Given the description of an element on the screen output the (x, y) to click on. 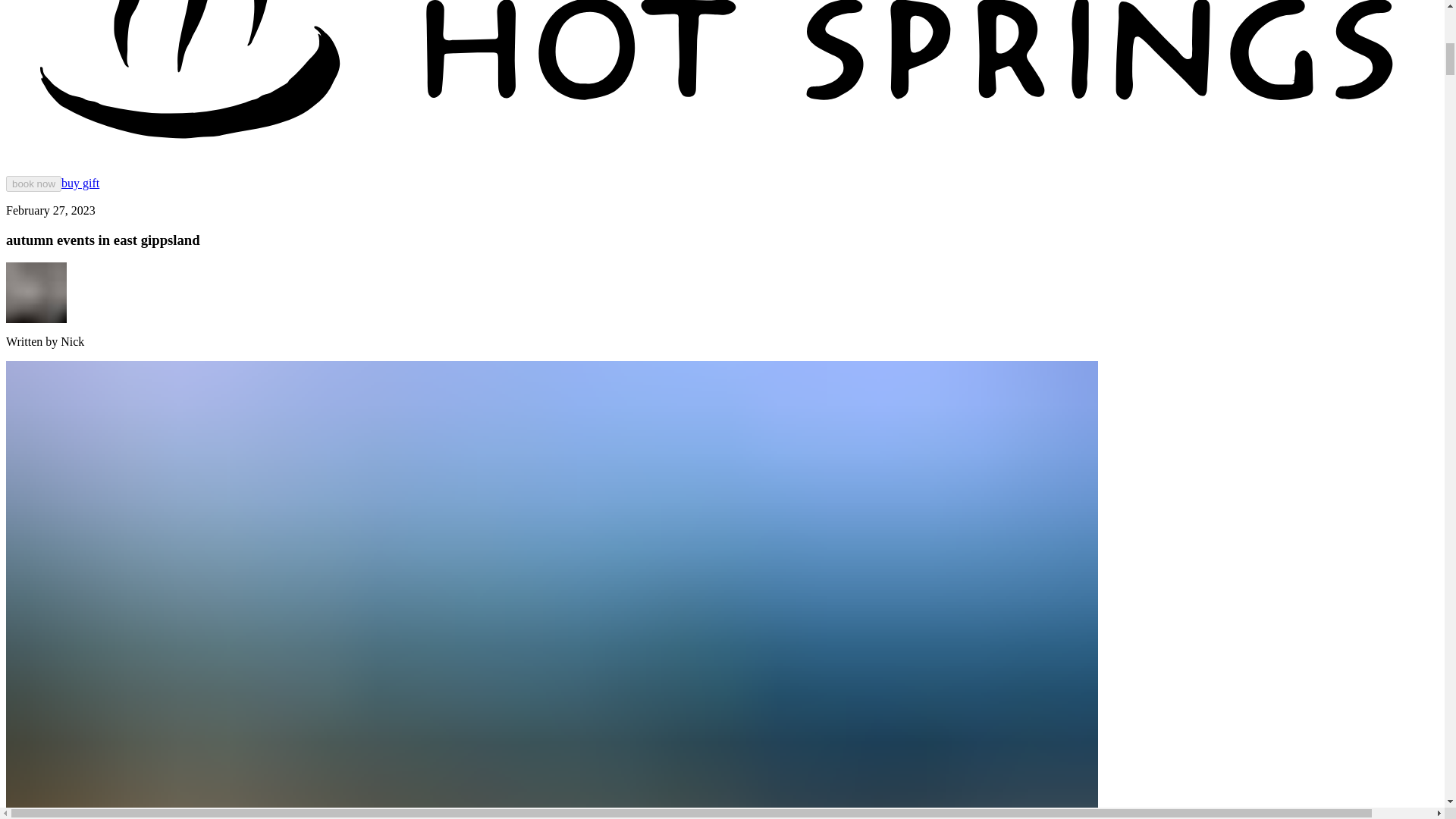
book now (33, 183)
buy gift (80, 182)
